Given the description of an element on the screen output the (x, y) to click on. 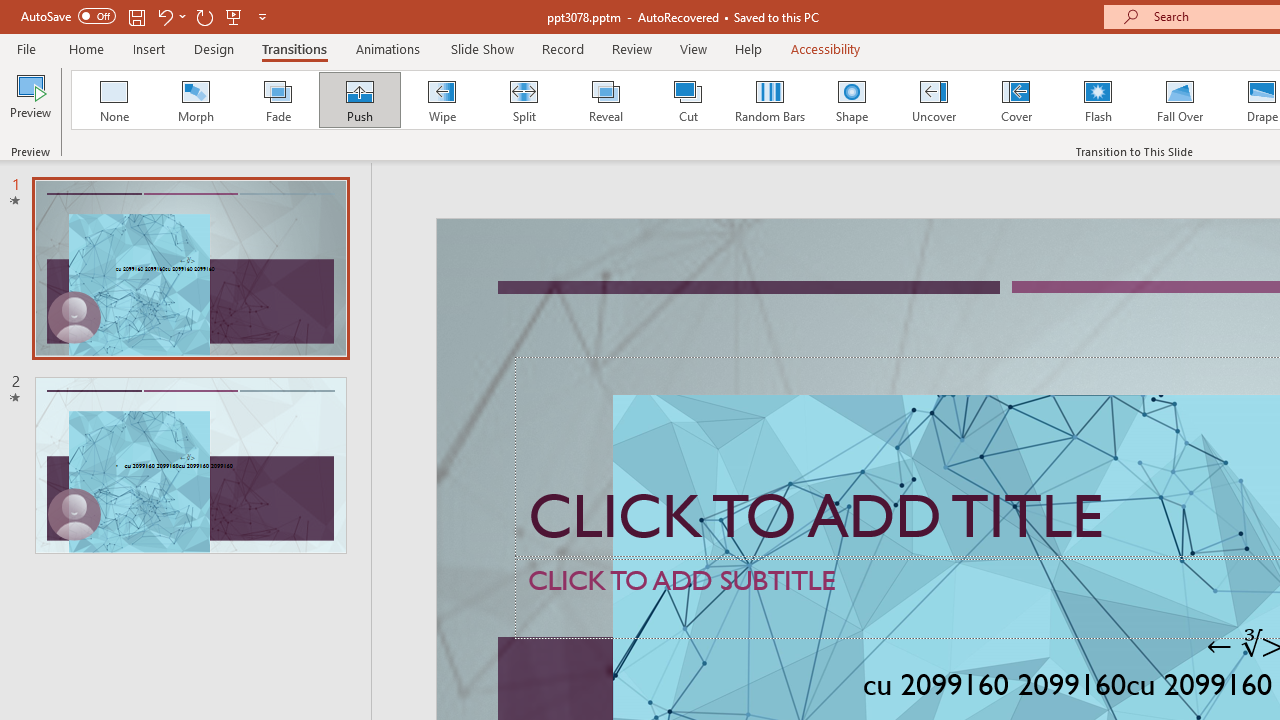
Morph (195, 100)
Cover (1016, 100)
Wipe (441, 100)
